Given the description of an element on the screen output the (x, y) to click on. 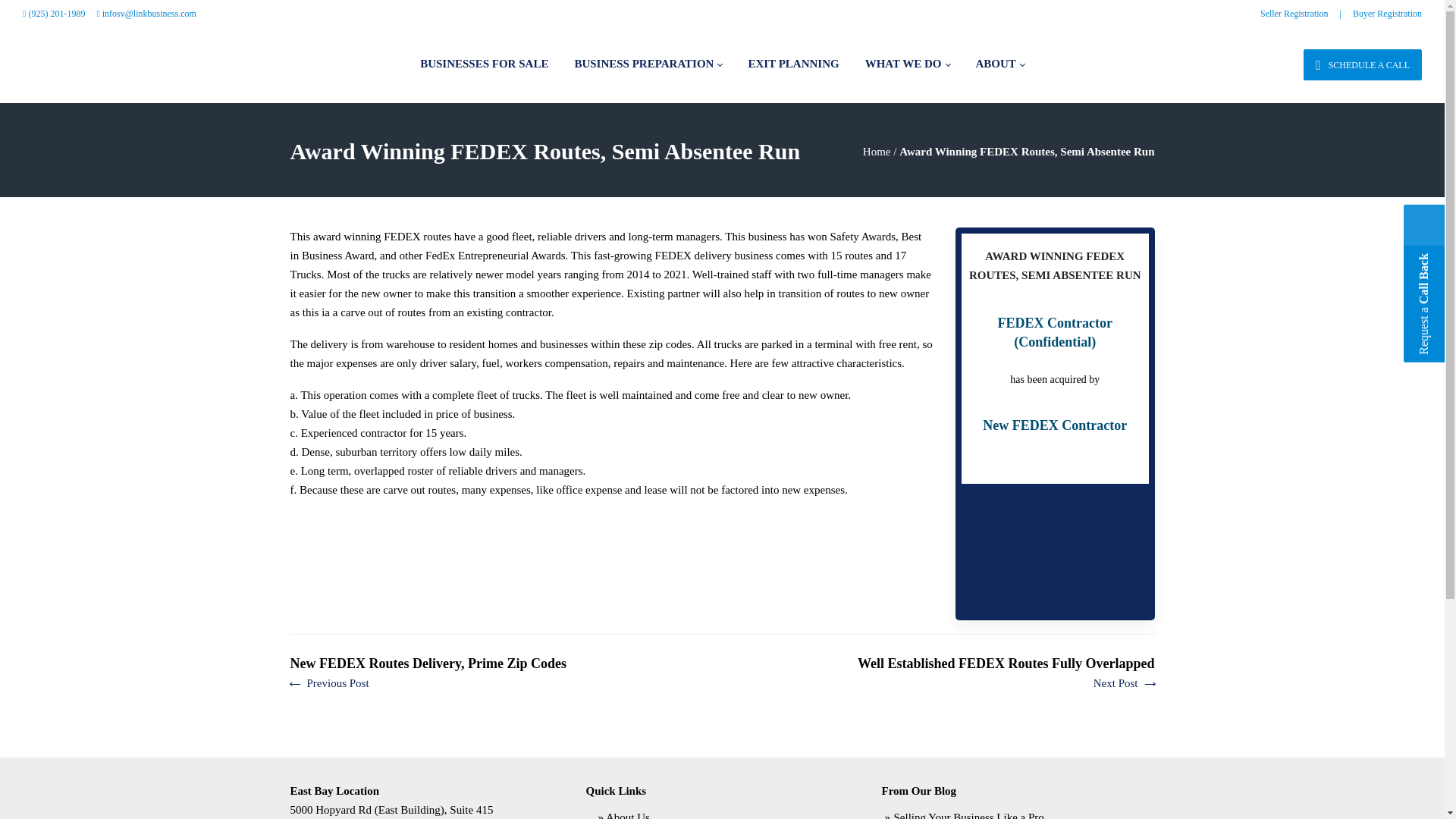
EXIT PLANNING (792, 65)
WHAT WE DO (907, 65)
Well Established FEDEX Routes Fully Overlapped (1005, 673)
Buyer Registration (1387, 13)
BUSINESSES FOR SALE (483, 65)
Seller Registration (1293, 13)
BUSINESS PREPARATION (647, 65)
SCHEDULE A CALL (1362, 64)
New FEDEX Routes Delivery, Prime Zip Codes (427, 673)
